Given the description of an element on the screen output the (x, y) to click on. 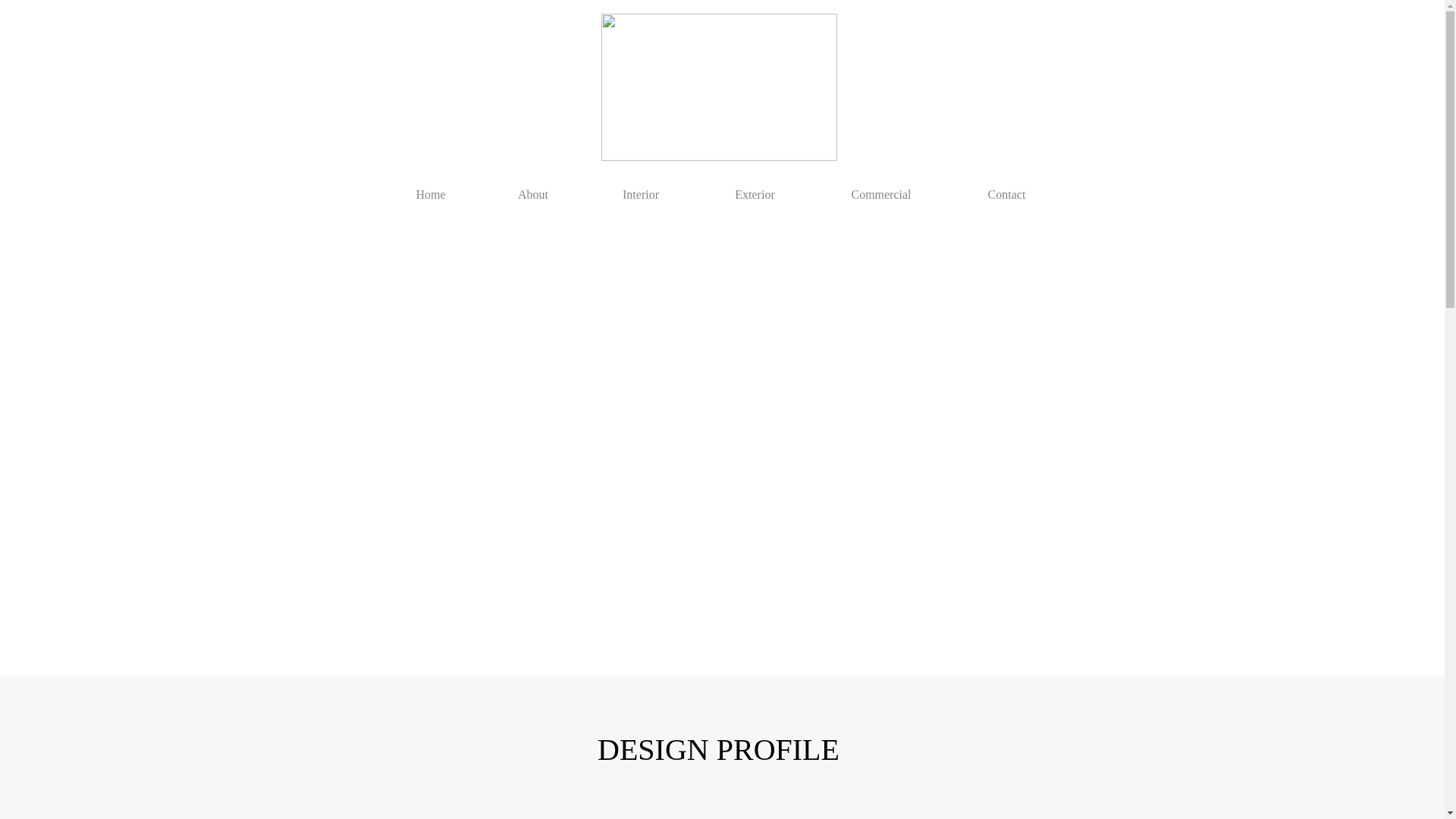
Exterior (754, 187)
Home (429, 187)
About (533, 187)
Commercial (881, 187)
Contact (1005, 187)
Interior (640, 187)
